Given the description of an element on the screen output the (x, y) to click on. 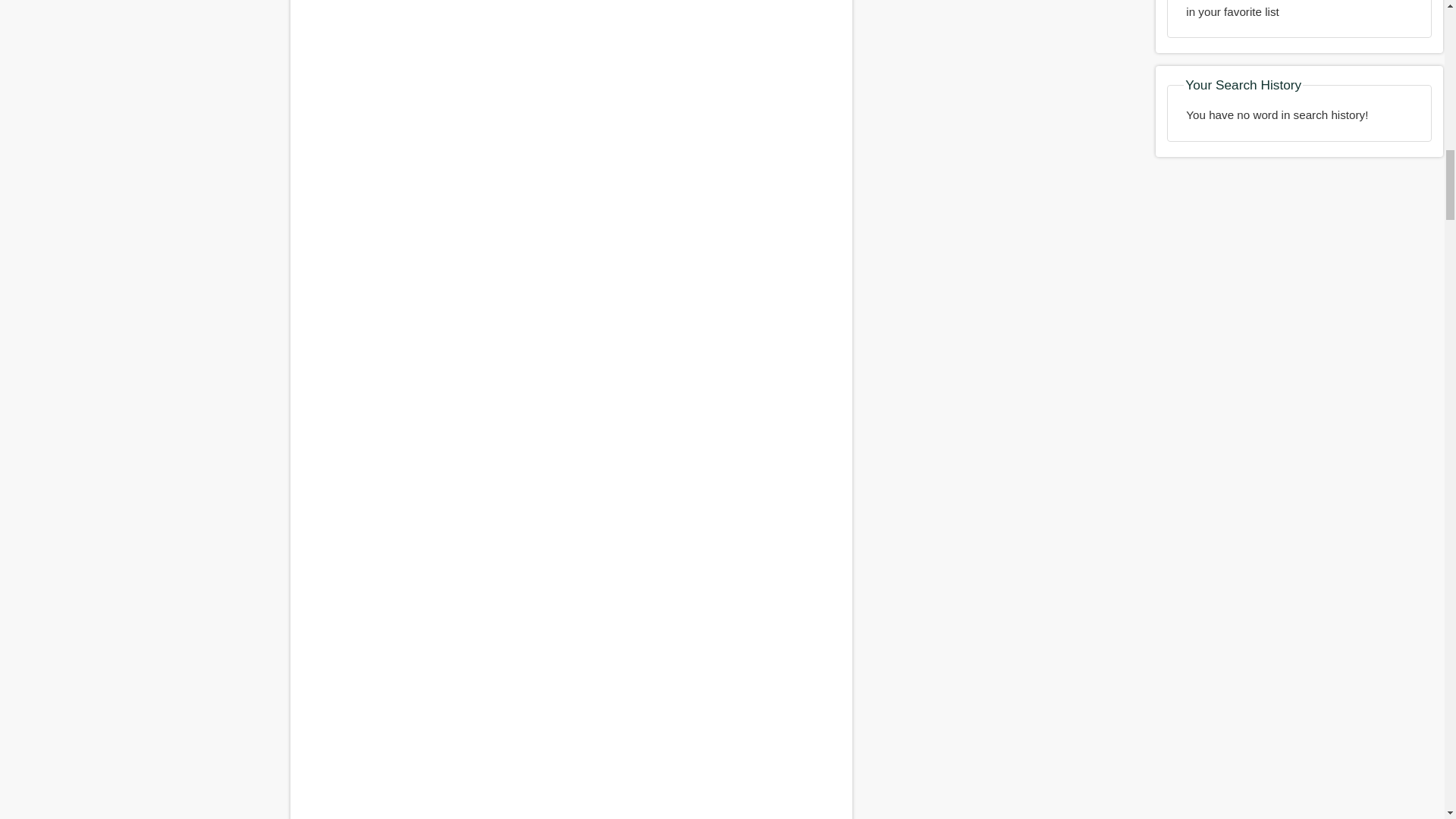
Commonly confused words (570, 117)
form of verbs (570, 681)
